Given the description of an element on the screen output the (x, y) to click on. 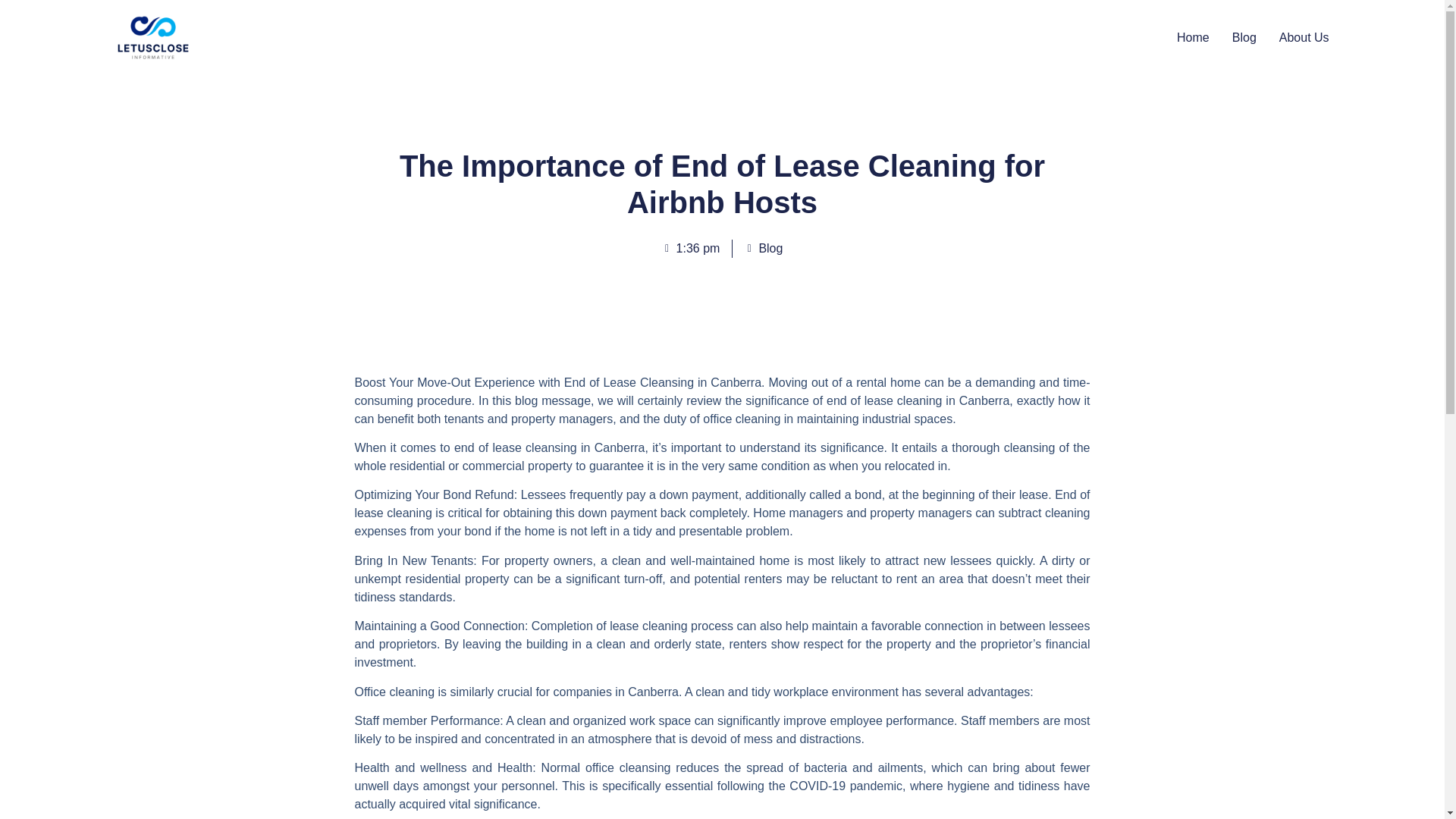
Blog (763, 248)
Home (1192, 37)
About Us (1304, 37)
Blog (1243, 37)
